Given the description of an element on the screen output the (x, y) to click on. 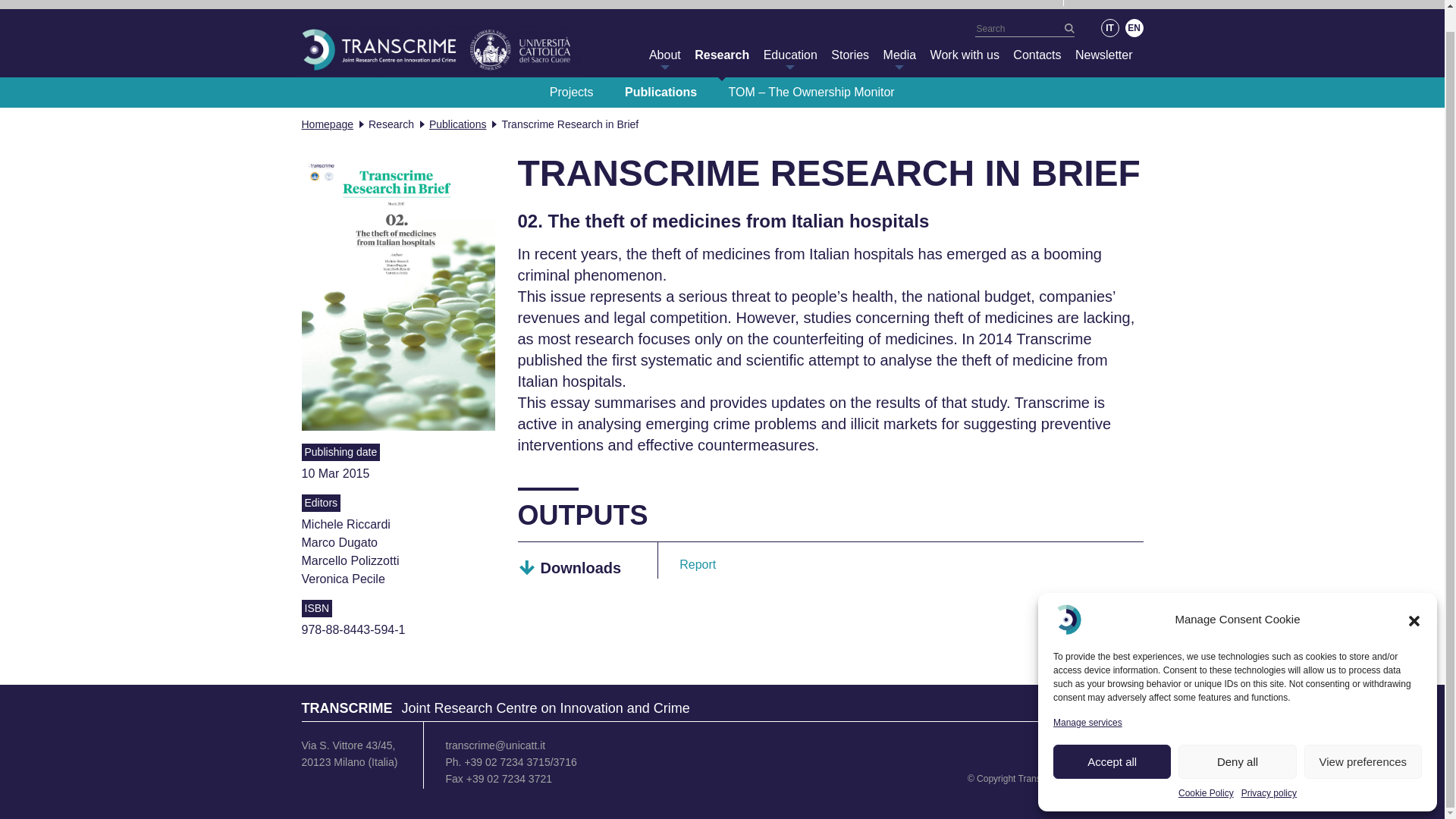
Cookie Policy (1205, 771)
Stories (850, 54)
Education (789, 54)
Research (721, 54)
Projects (572, 91)
Manage services (1087, 701)
Accept all (1111, 740)
Media (900, 54)
Publications (660, 91)
View preferences (1363, 740)
